Given the description of an element on the screen output the (x, y) to click on. 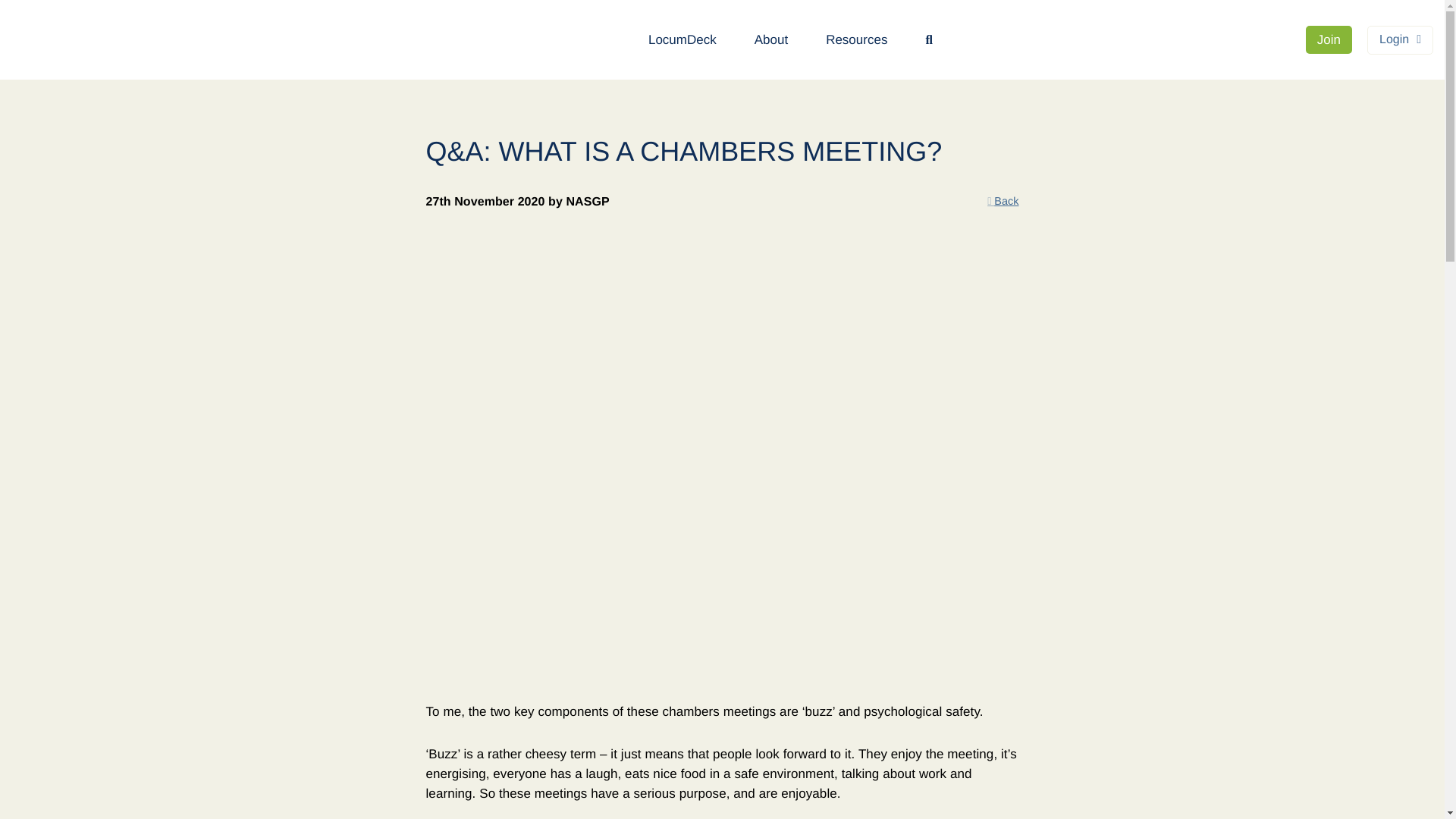
Resources (855, 39)
About (770, 39)
Join (1329, 39)
LocumDeck (682, 39)
Login (1399, 39)
